Given the description of an element on the screen output the (x, y) to click on. 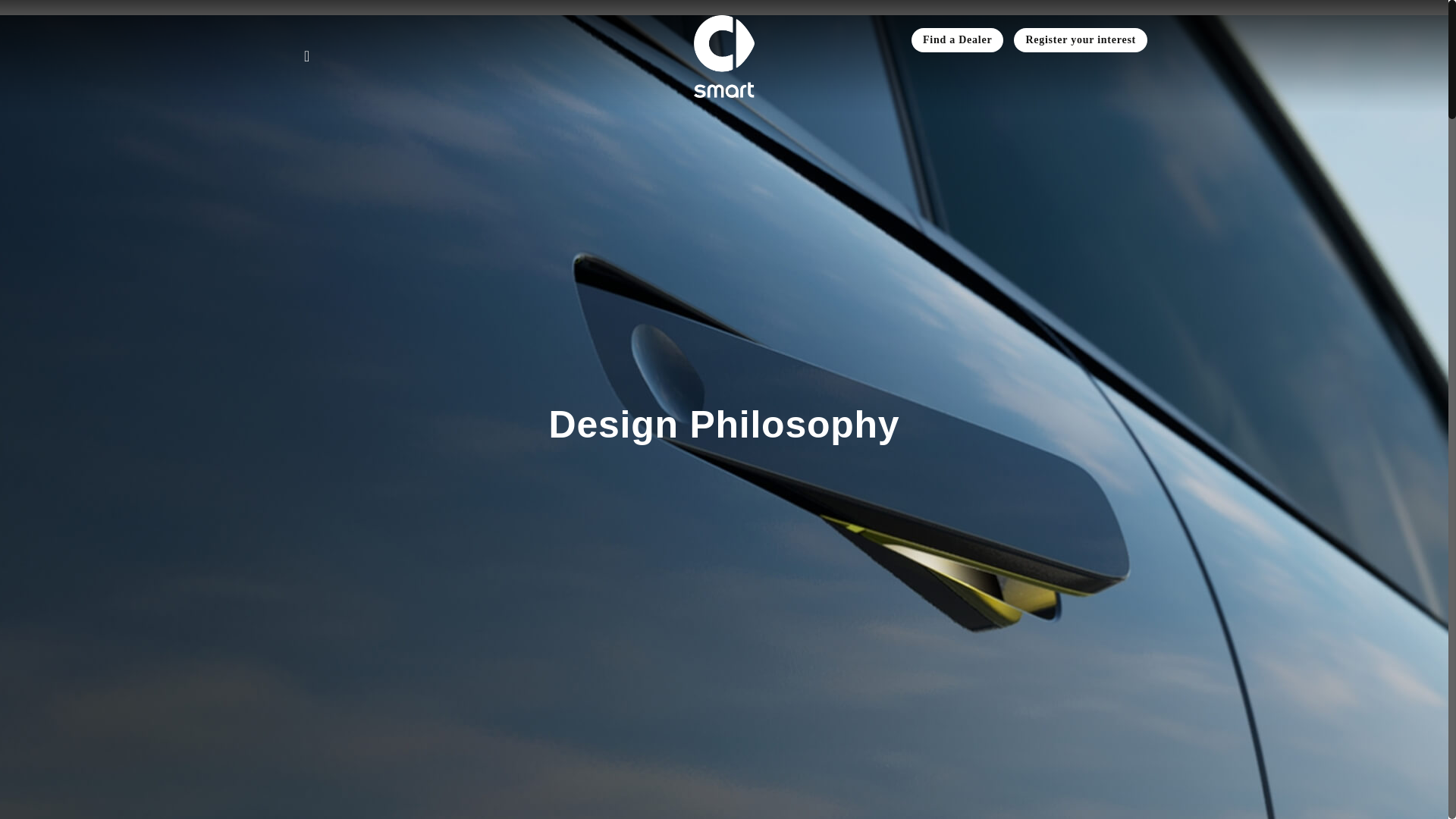
Register your interest (1080, 39)
Reserve My Seat (1080, 39)
Find a Dealer (957, 39)
